Given the description of an element on the screen output the (x, y) to click on. 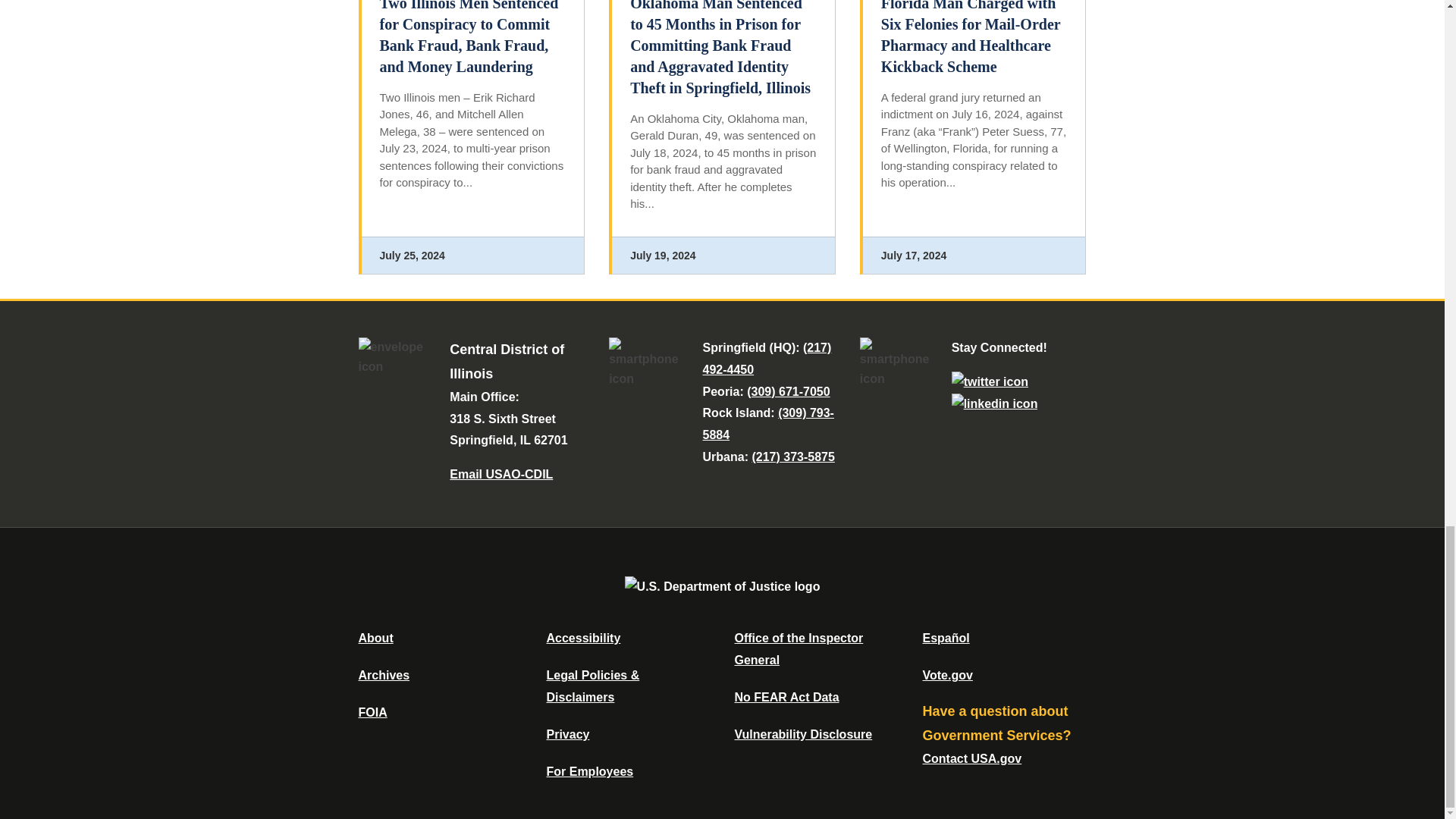
Office of Information Policy (372, 712)
Accessibility Statement (583, 637)
Department of Justice Archive (383, 675)
Data Posted Pursuant To The No Fear Act (785, 697)
About DOJ (375, 637)
For Employees (589, 771)
Legal Policies and Disclaimers (592, 686)
